Given the description of an element on the screen output the (x, y) to click on. 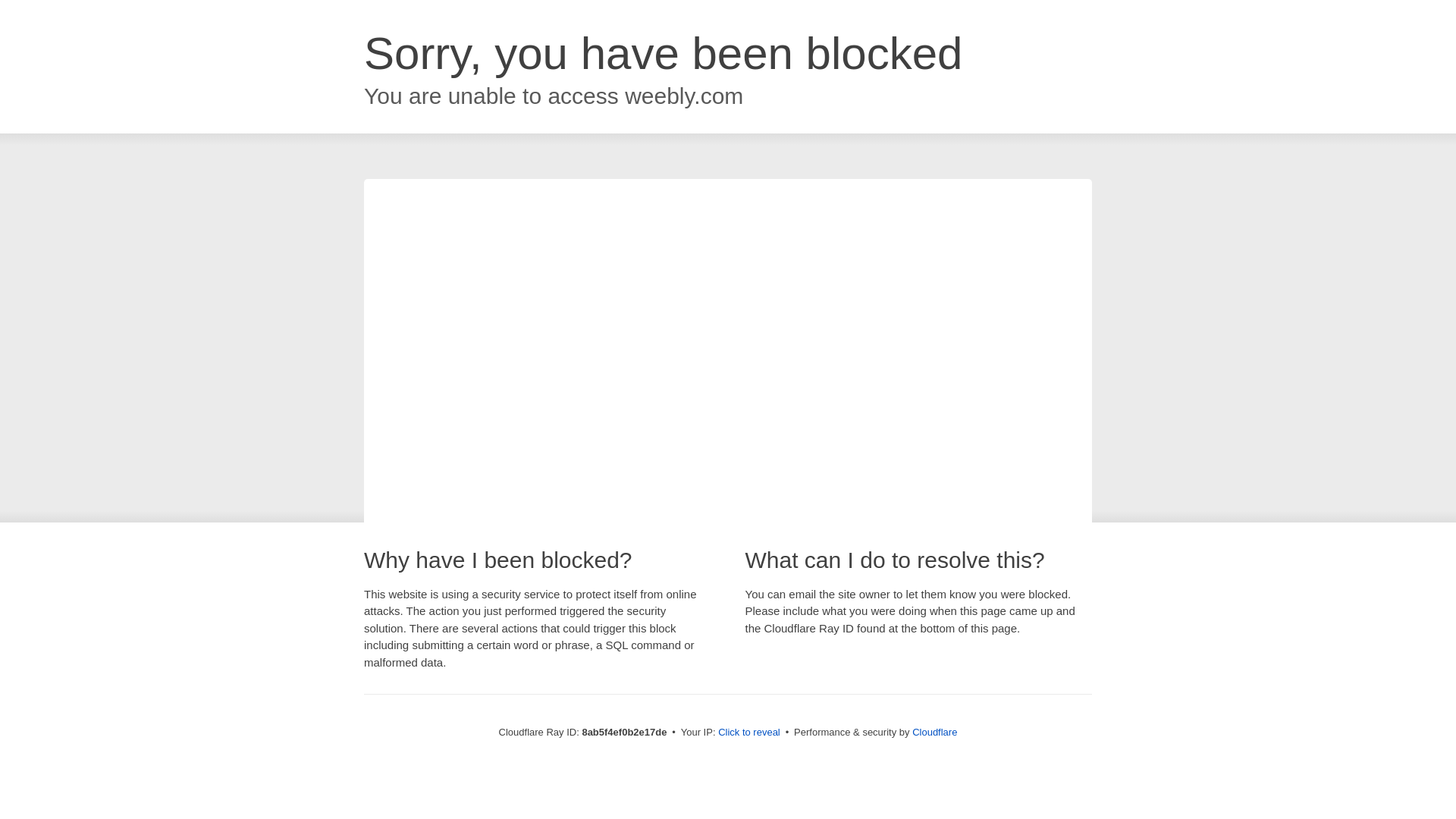
Click to reveal (748, 732)
Cloudflare (934, 731)
